Given the description of an element on the screen output the (x, y) to click on. 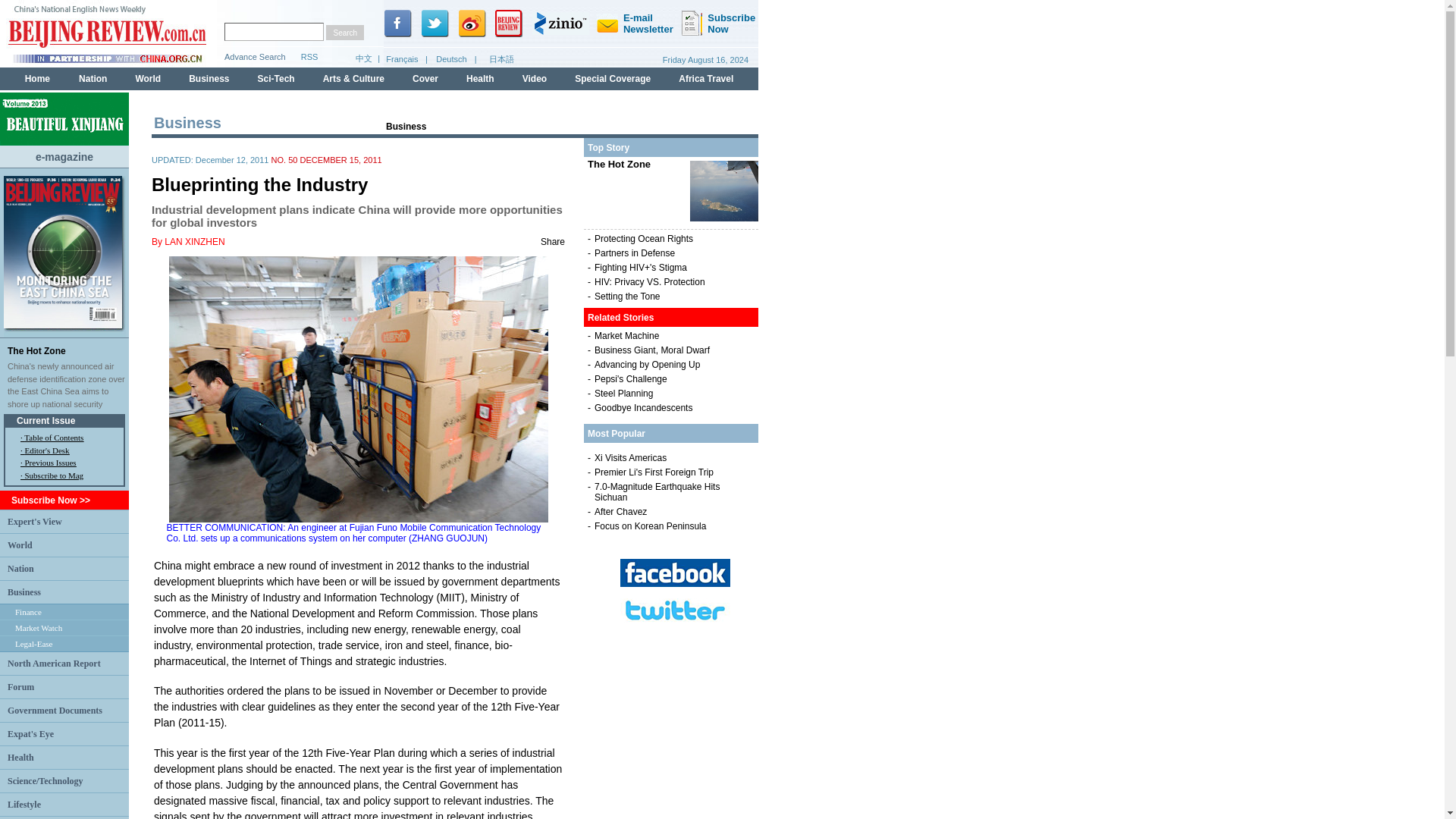
Lifestyle (23, 804)
Market Watch (38, 627)
Editor's Desk (46, 450)
Finance (28, 611)
The Hot Zone (36, 350)
Business (23, 592)
Forum (20, 685)
World (19, 544)
Government Documents (54, 710)
